Given the description of an element on the screen output the (x, y) to click on. 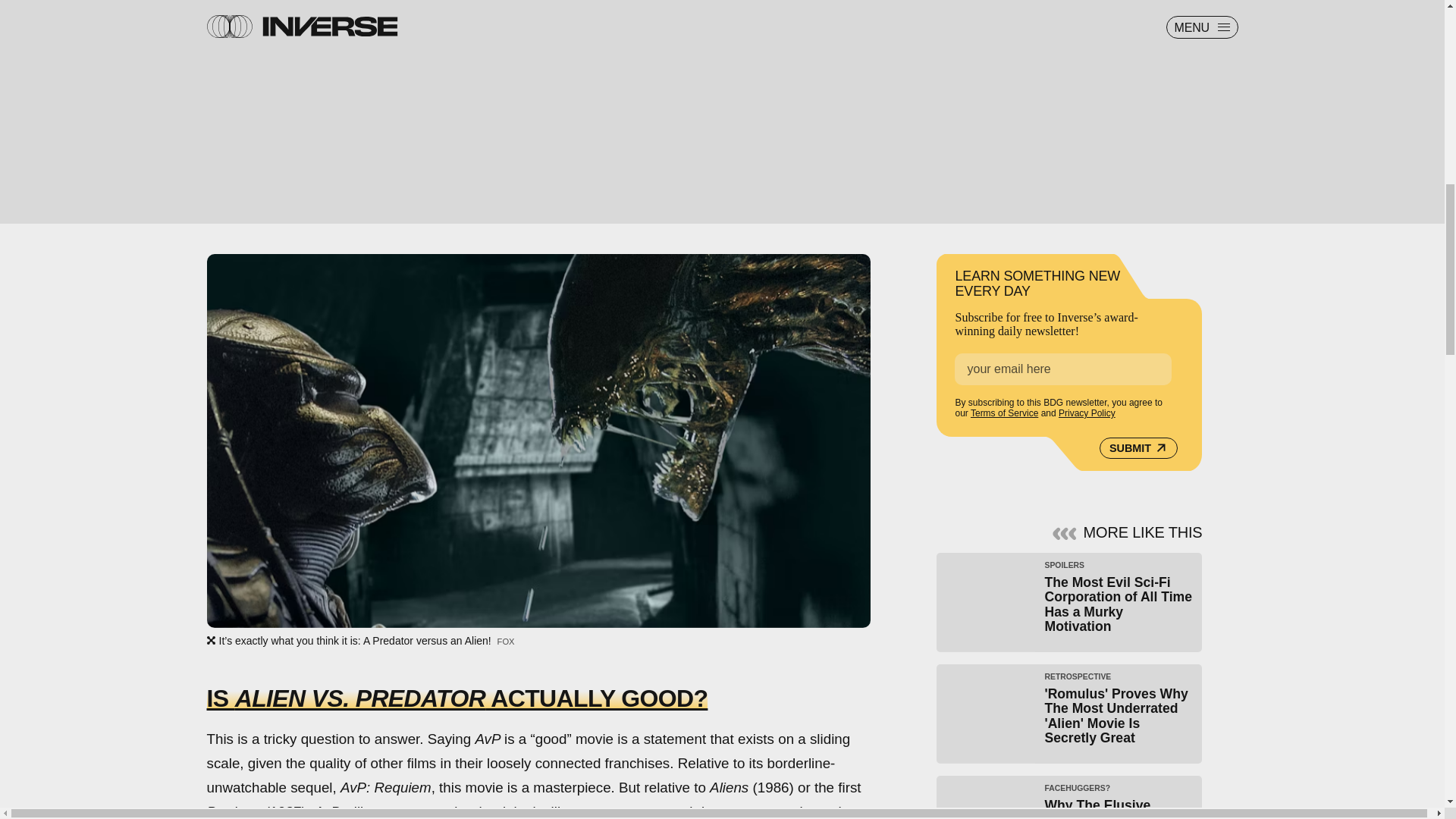
Terms of Service (1004, 412)
SUBMIT (1069, 797)
Privacy Policy (1138, 447)
